Given the description of an element on the screen output the (x, y) to click on. 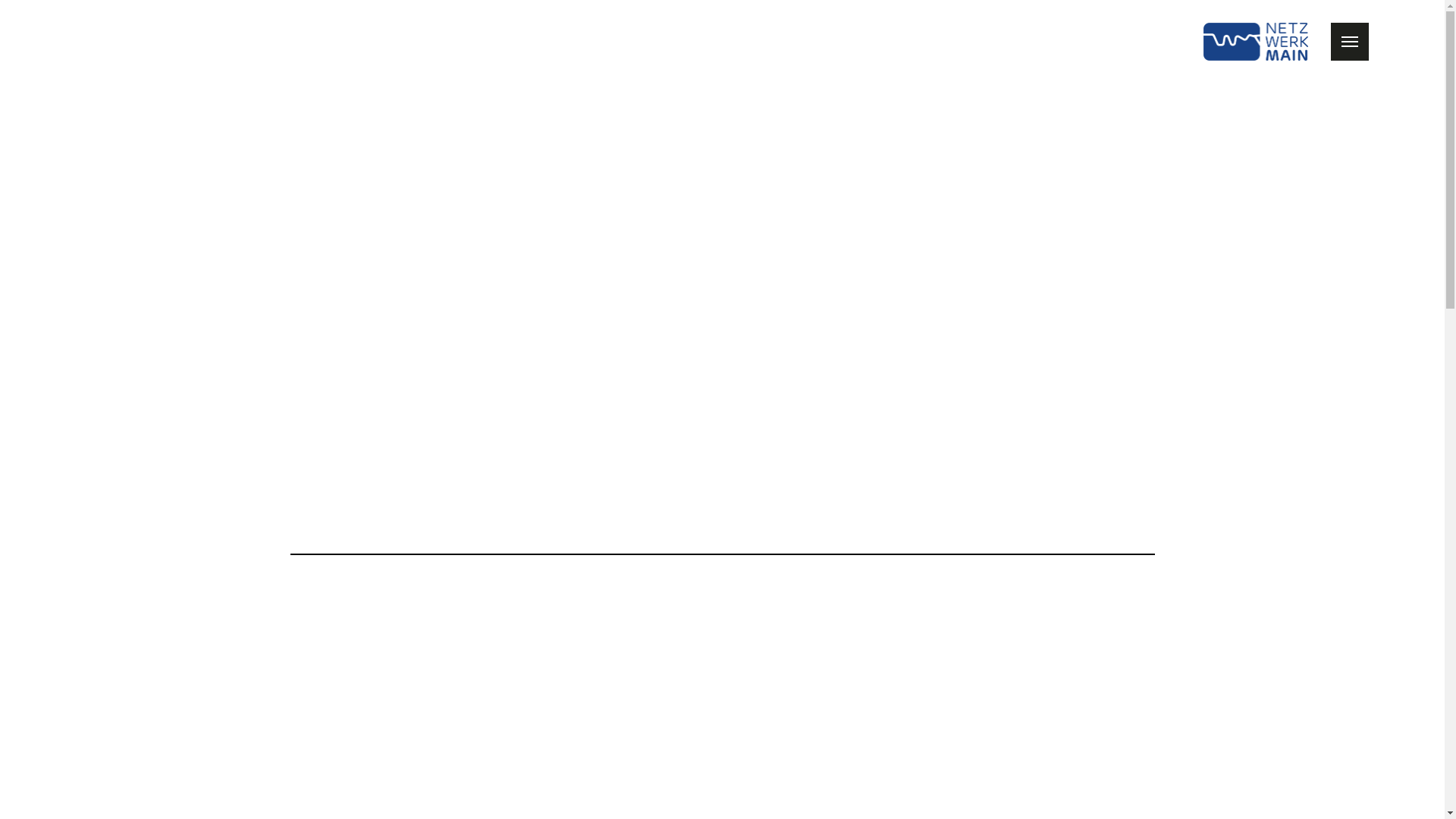
Show / Hide Navigation Element type: text (1349, 41)
